Given the description of an element on the screen output the (x, y) to click on. 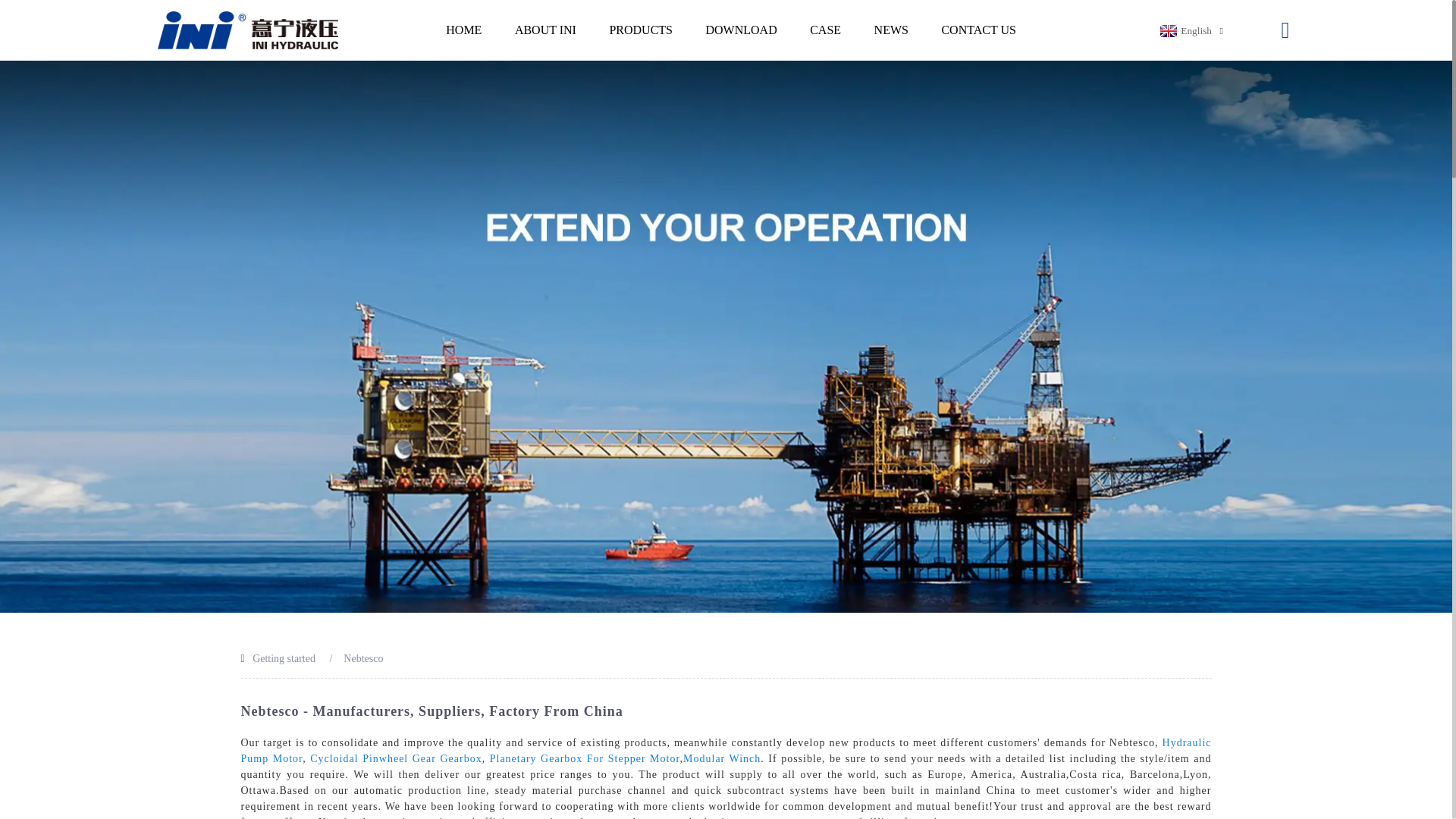
Planetary Gearbox For Stepper Motor (584, 758)
HOME (463, 30)
Modular Winch (721, 758)
Hydraulic Pump Motor (726, 750)
Cycloidal Pinwheel Gear Gearbox (395, 758)
PRODUCTS (640, 30)
ABOUT INI (545, 30)
